Given the description of an element on the screen output the (x, y) to click on. 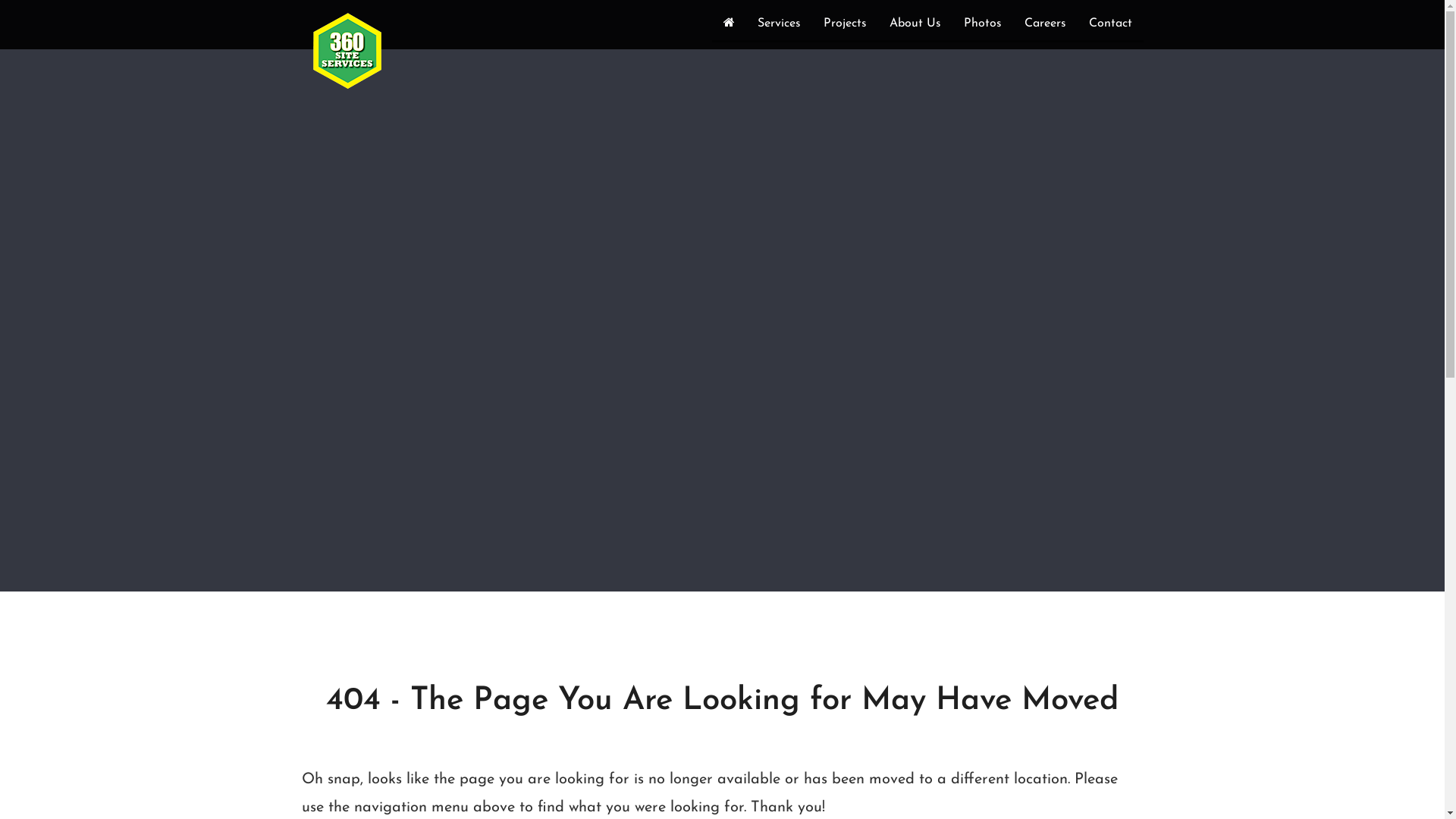
Careers Element type: text (1045, 24)
Contact Element type: text (1109, 24)
Projects Element type: text (844, 24)
About Us Element type: text (915, 24)
Services Element type: text (779, 24)
Photos Element type: text (982, 24)
